Given the description of an element on the screen output the (x, y) to click on. 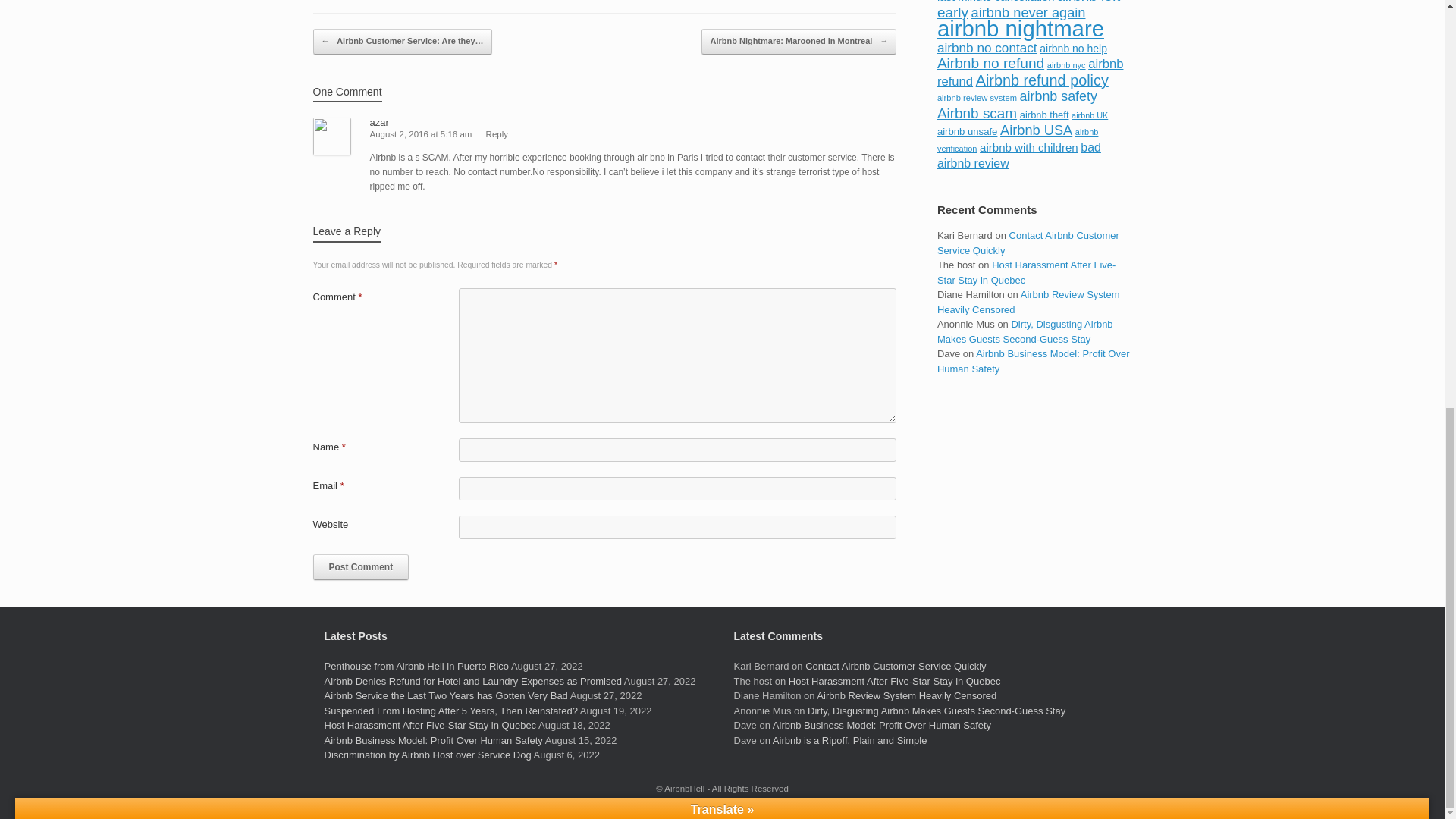
Post Comment (361, 566)
Reply (497, 133)
August 2, 2016 at 5:16 am (420, 133)
